Given the description of an element on the screen output the (x, y) to click on. 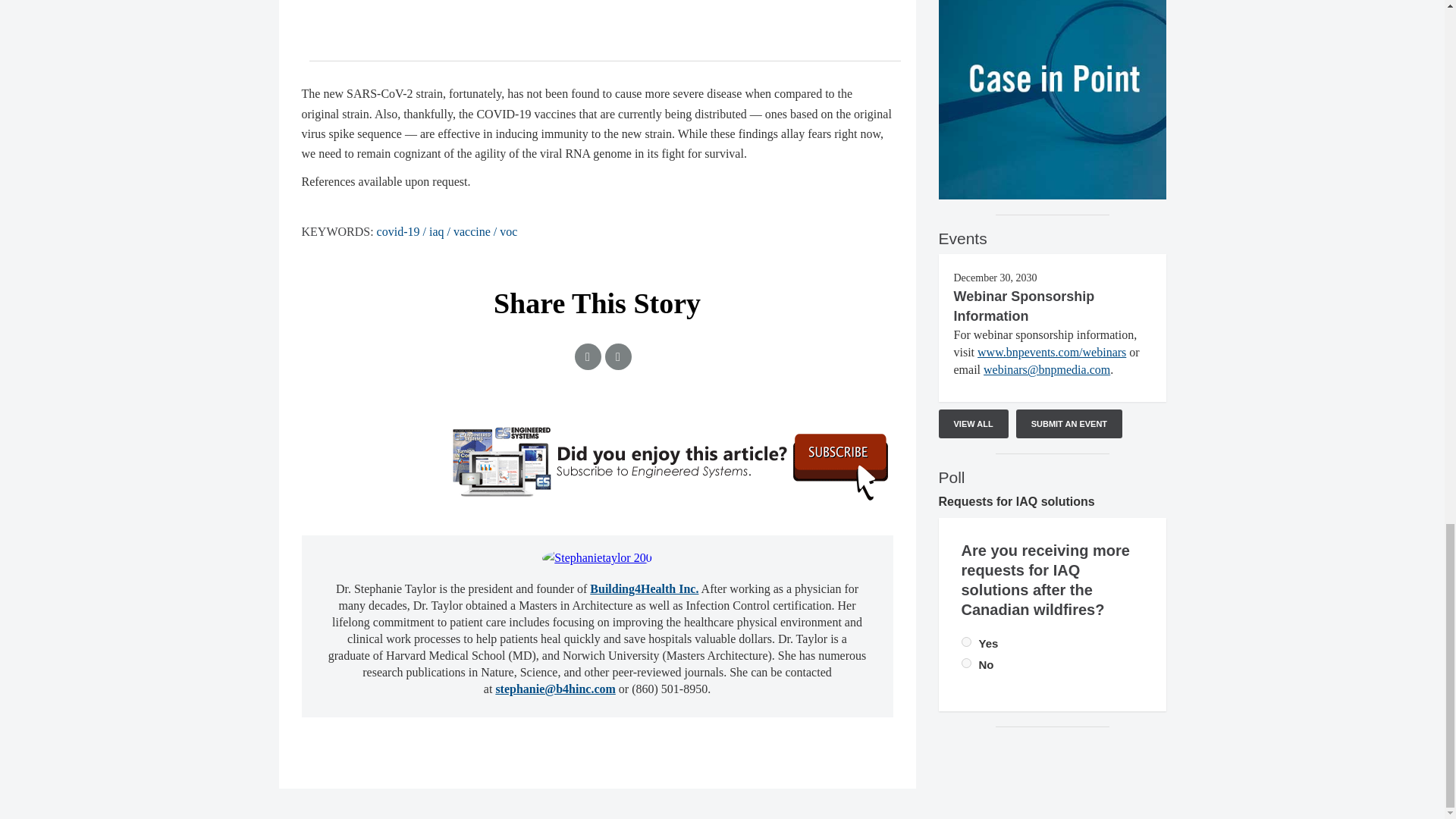
196 (965, 642)
Webinar Sponsorship Information (1023, 306)
195 (965, 663)
